Given the description of an element on the screen output the (x, y) to click on. 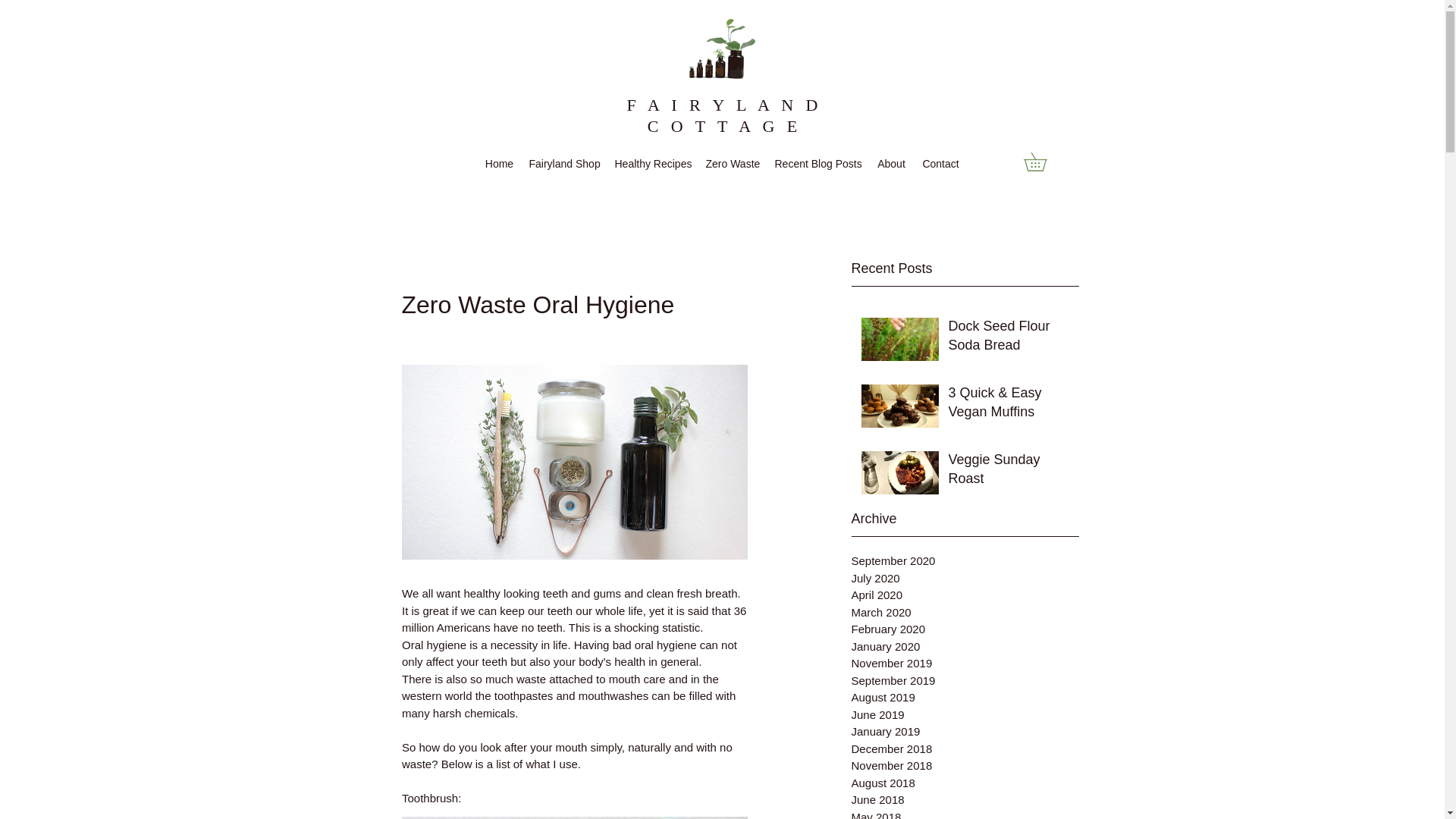
Home (499, 163)
December 2018 (964, 748)
September 2019 (964, 680)
July 2020 (964, 579)
January 2020 (964, 647)
Zero Waste (732, 163)
April 2020 (964, 595)
Contact (941, 163)
February 2020 (964, 629)
Healthy Recipes (652, 163)
August 2019 (964, 697)
March 2020 (964, 611)
September 2020 (964, 561)
June 2019 (964, 714)
May 2018 (964, 813)
